Given the description of an element on the screen output the (x, y) to click on. 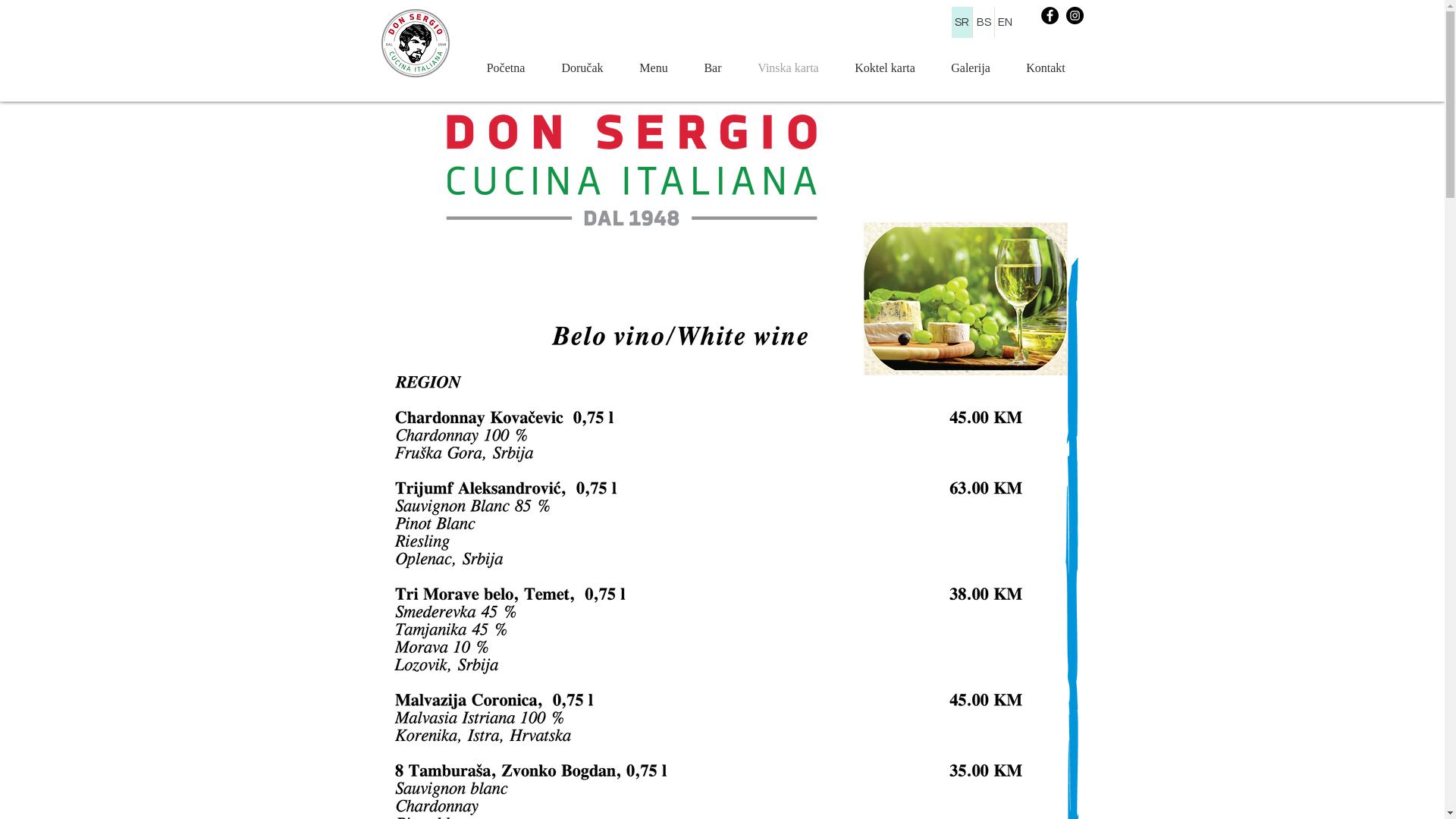
Koktel karta Element type: text (885, 68)
EN Element type: text (1005, 21)
Vinska karta Element type: text (788, 68)
SR Element type: text (961, 21)
Galerija Element type: text (969, 68)
Bar Element type: text (712, 68)
Menu Element type: text (653, 68)
BS Element type: text (983, 21)
Kontakt Element type: text (1045, 68)
